Given the description of an element on the screen output the (x, y) to click on. 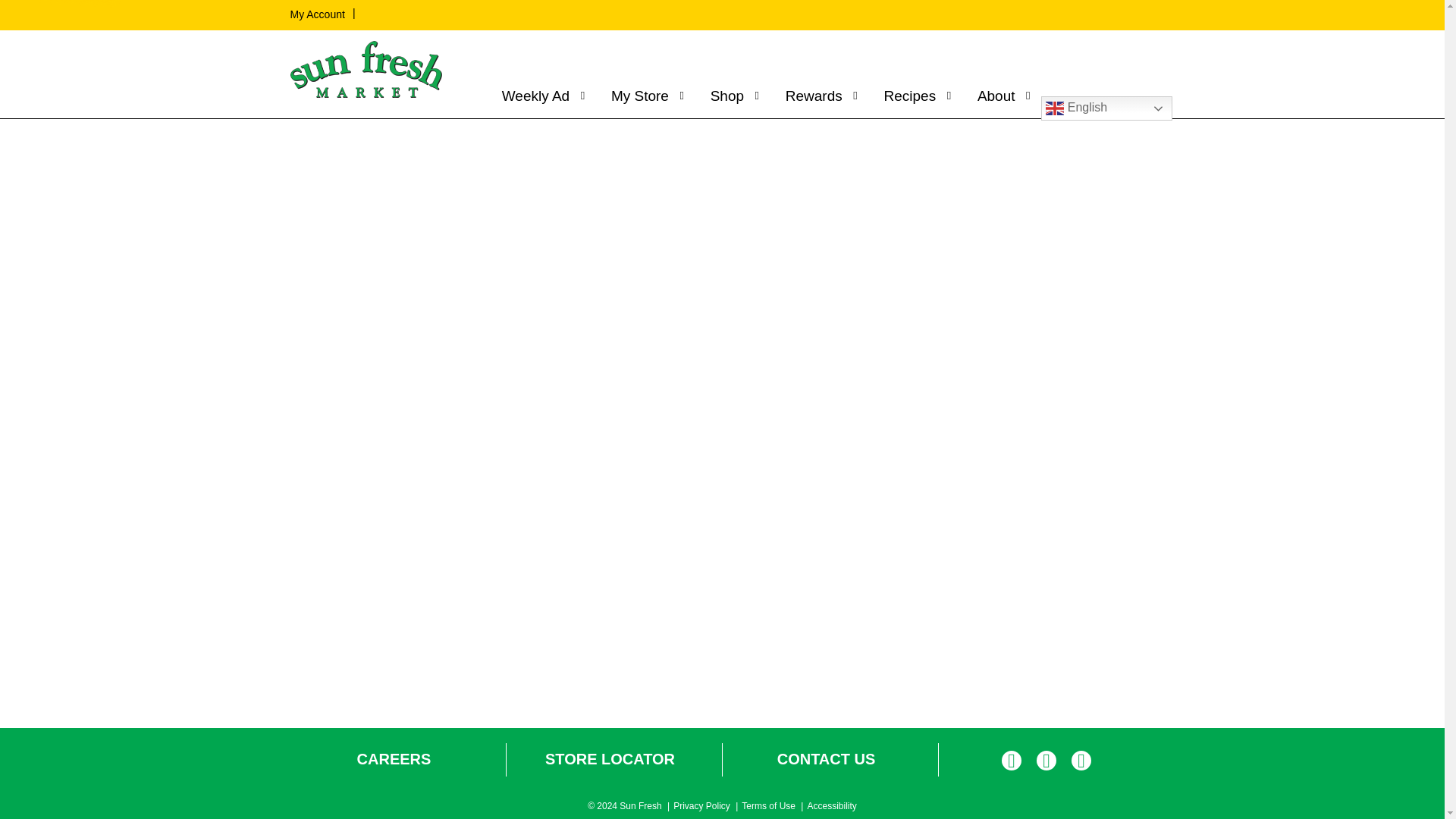
Sun Fresh (365, 69)
My Account (316, 14)
About (1000, 95)
twitter (1046, 762)
instagram (1080, 762)
Weekly Ad (539, 95)
Rewards (817, 95)
Shop (731, 95)
My Store (643, 95)
facebook (1011, 762)
